Given the description of an element on the screen output the (x, y) to click on. 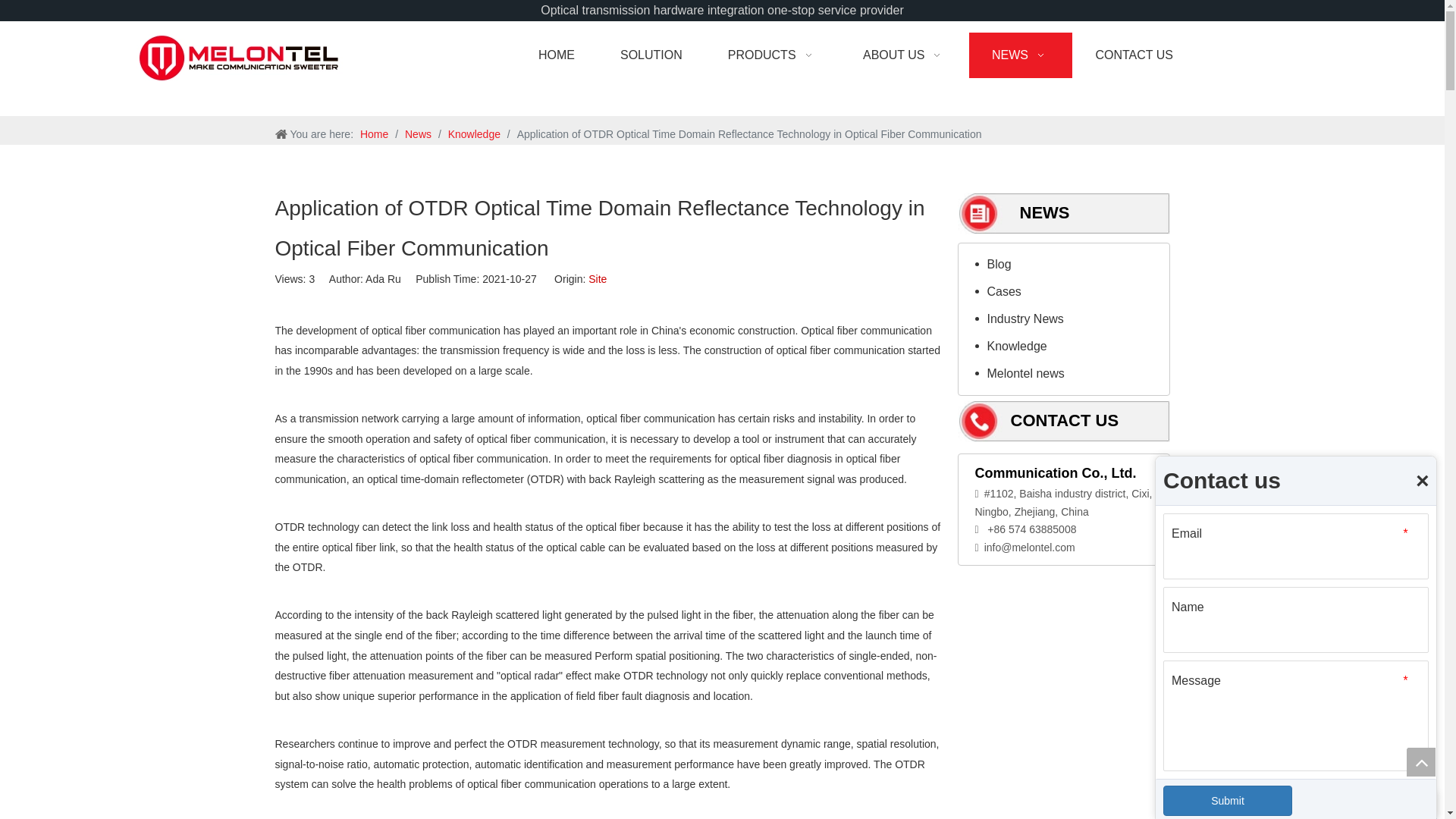
HOME (555, 54)
CONTACT US (1133, 54)
PRODUCTS   (772, 54)
ABOUT US   (904, 54)
NEWS   (1020, 54)
SOLUTION (650, 54)
